Given the description of an element on the screen output the (x, y) to click on. 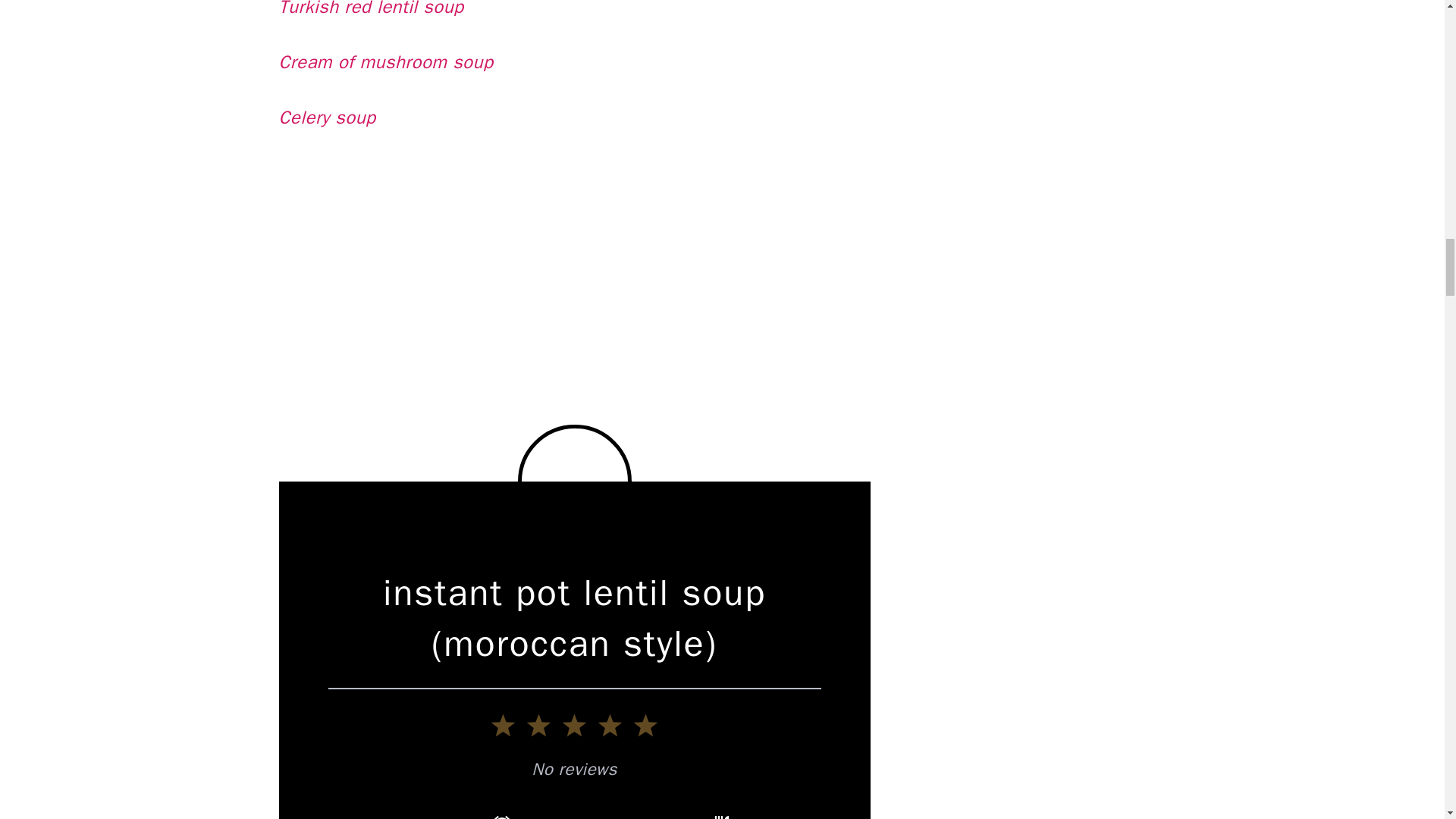
Turkish red lentil soup (371, 9)
Celery soup (327, 117)
Cream of mushroom soup (386, 61)
